Given the description of an element on the screen output the (x, y) to click on. 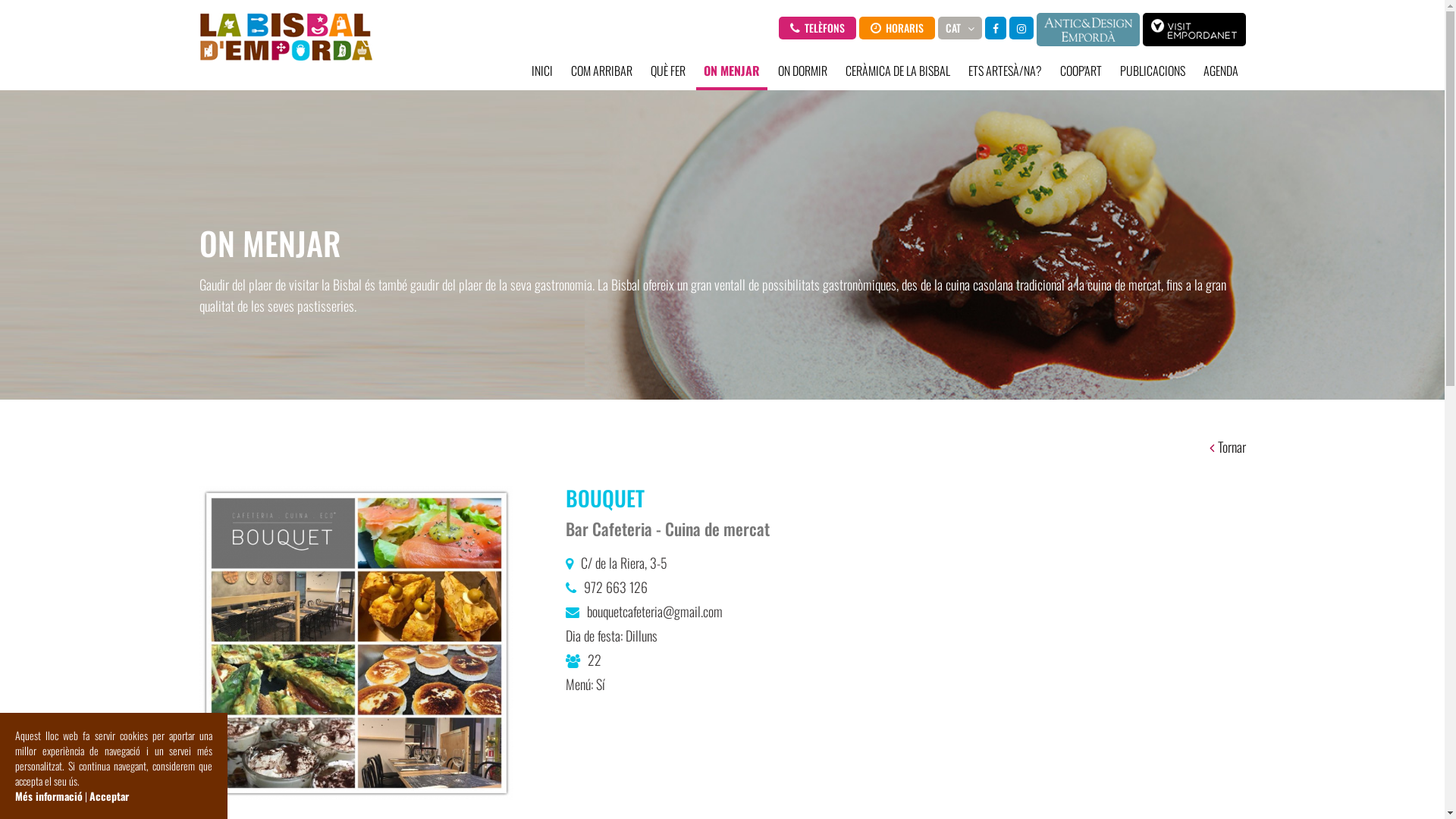
HORARIS Element type: text (896, 27)
972 663 126 Element type: text (615, 586)
ON MENJAR Element type: text (731, 71)
PUBLICACIONS Element type: text (1151, 70)
AGENDA Element type: text (1220, 70)
bouquetcafeteria@gmail.com Element type: text (654, 611)
CAT    Element type: text (959, 27)
INICI Element type: text (541, 70)
ON DORMIR Element type: text (802, 70)
COOP'ART Element type: text (1080, 70)
Acceptar Element type: text (108, 795)
Tornar Element type: text (1226, 446)
COM ARRIBAR Element type: text (600, 70)
